Given the description of an element on the screen output the (x, y) to click on. 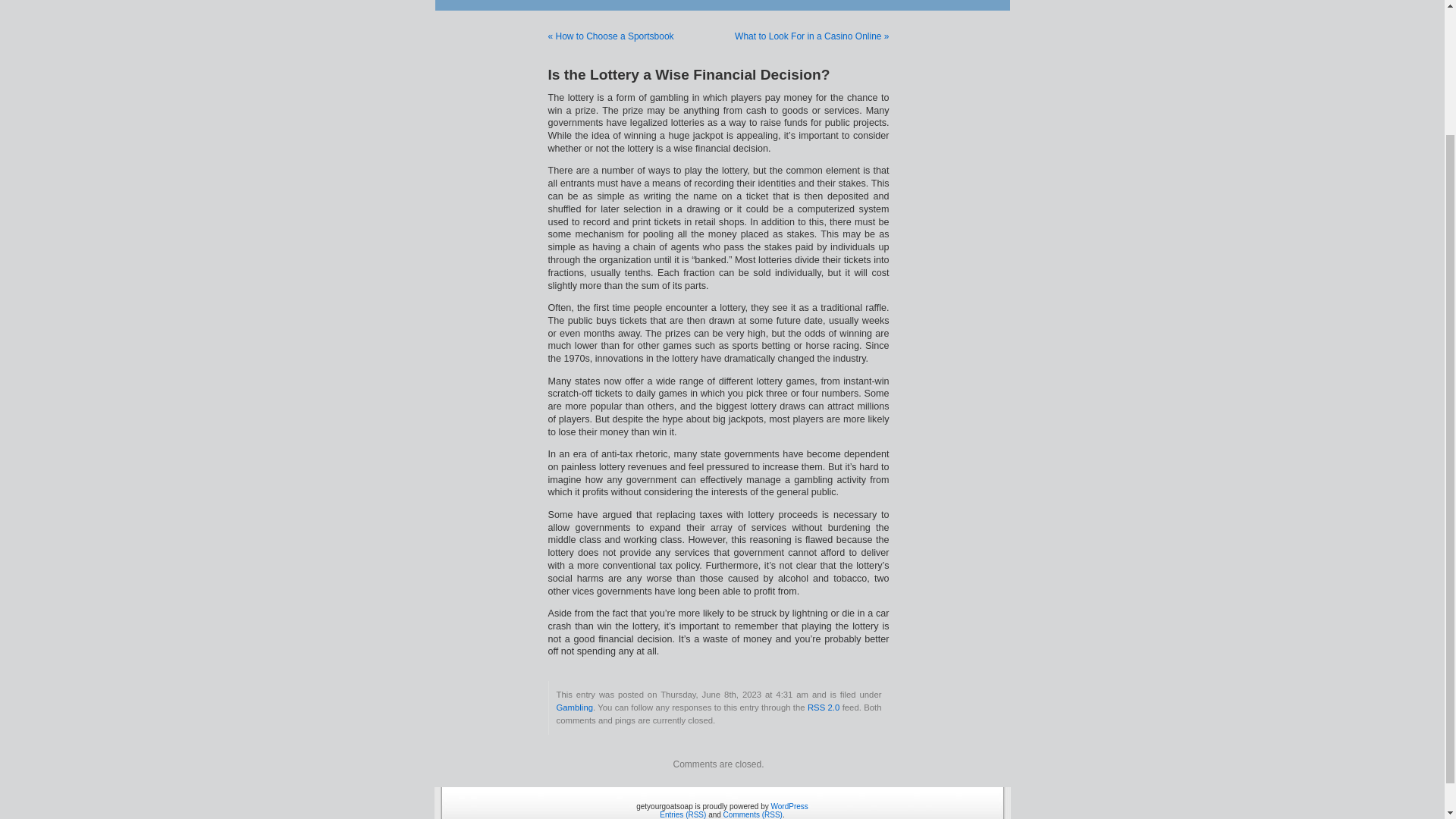
WordPress (789, 806)
RSS 2.0 (824, 706)
Gambling (574, 706)
